Given the description of an element on the screen output the (x, y) to click on. 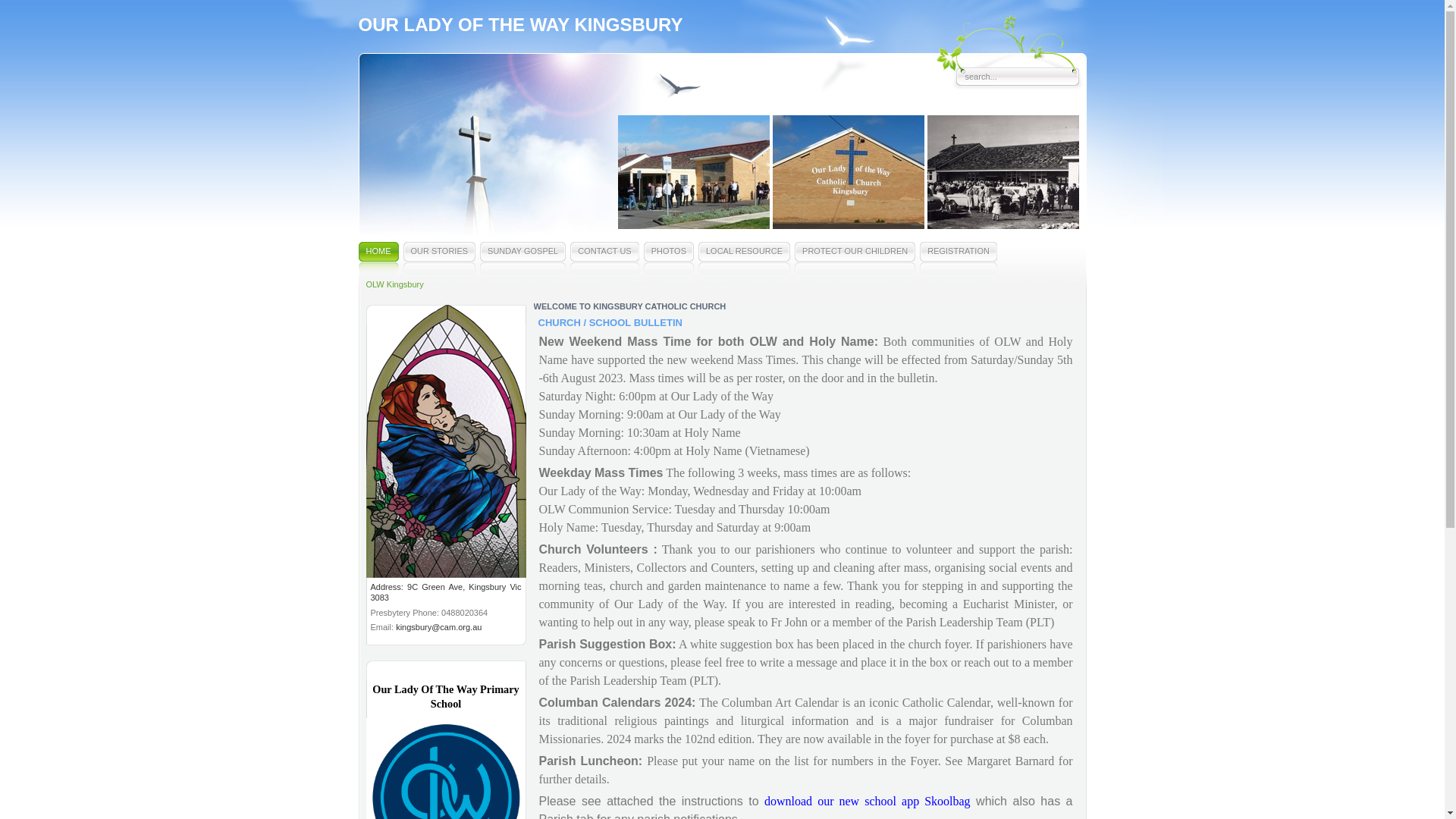
PROTECT OUR CHILDREN Element type: text (854, 259)
OUR LADY OF THE WAY KINGSBURY Element type: text (519, 24)
SiteLock Element type: hover (1344, 756)
Address: 9C Green Ave, Kingsbury Vic 3083 Element type: text (445, 592)
LOCAL RESOURCE Element type: text (744, 259)
CONTACT US Element type: text (604, 259)
download our new school app Skoolbag Element type: text (867, 800)
HOME Element type: text (377, 259)
kingsbury@cam.org.au Element type: text (438, 626)
Our Lady Of The Way Kingsbury Element type: hover (445, 440)
REGISTRATION Element type: text (958, 259)
OUR STORIES Element type: text (439, 259)
SUNDAY GOSPEL Element type: text (522, 259)
PHOTOS Element type: text (668, 259)
